Given the description of an element on the screen output the (x, y) to click on. 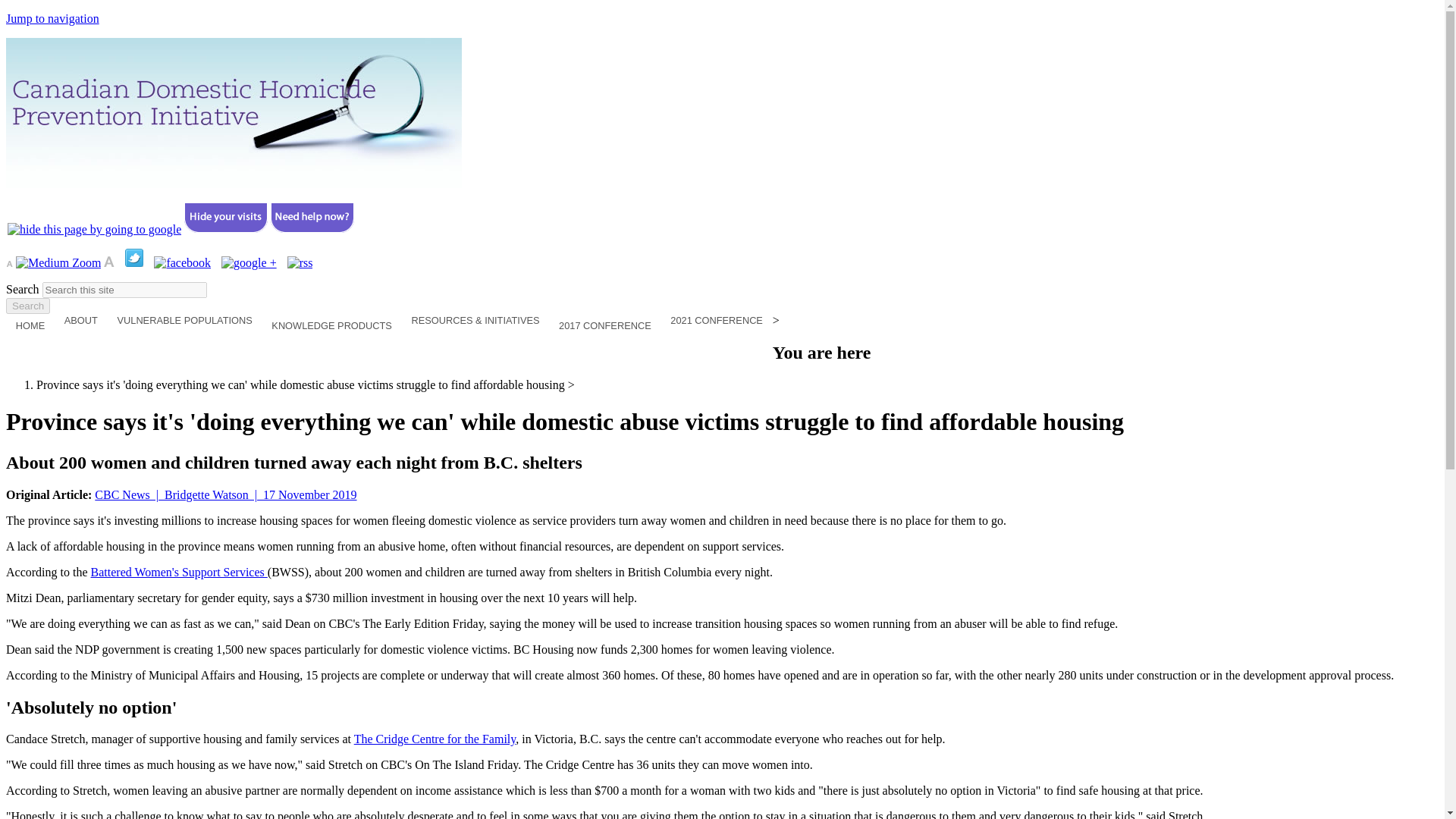
HOME (30, 328)
The Cridge Centre for the Family (434, 738)
Search (27, 305)
Search (27, 305)
2017 CONFERENCE (604, 328)
Battered Women's Support Services (178, 571)
Jump to navigation (52, 18)
Home (233, 183)
KNOWLEDGE PRODUCTS (331, 328)
Enter the terms you wish to search for. (124, 289)
